Given the description of an element on the screen output the (x, y) to click on. 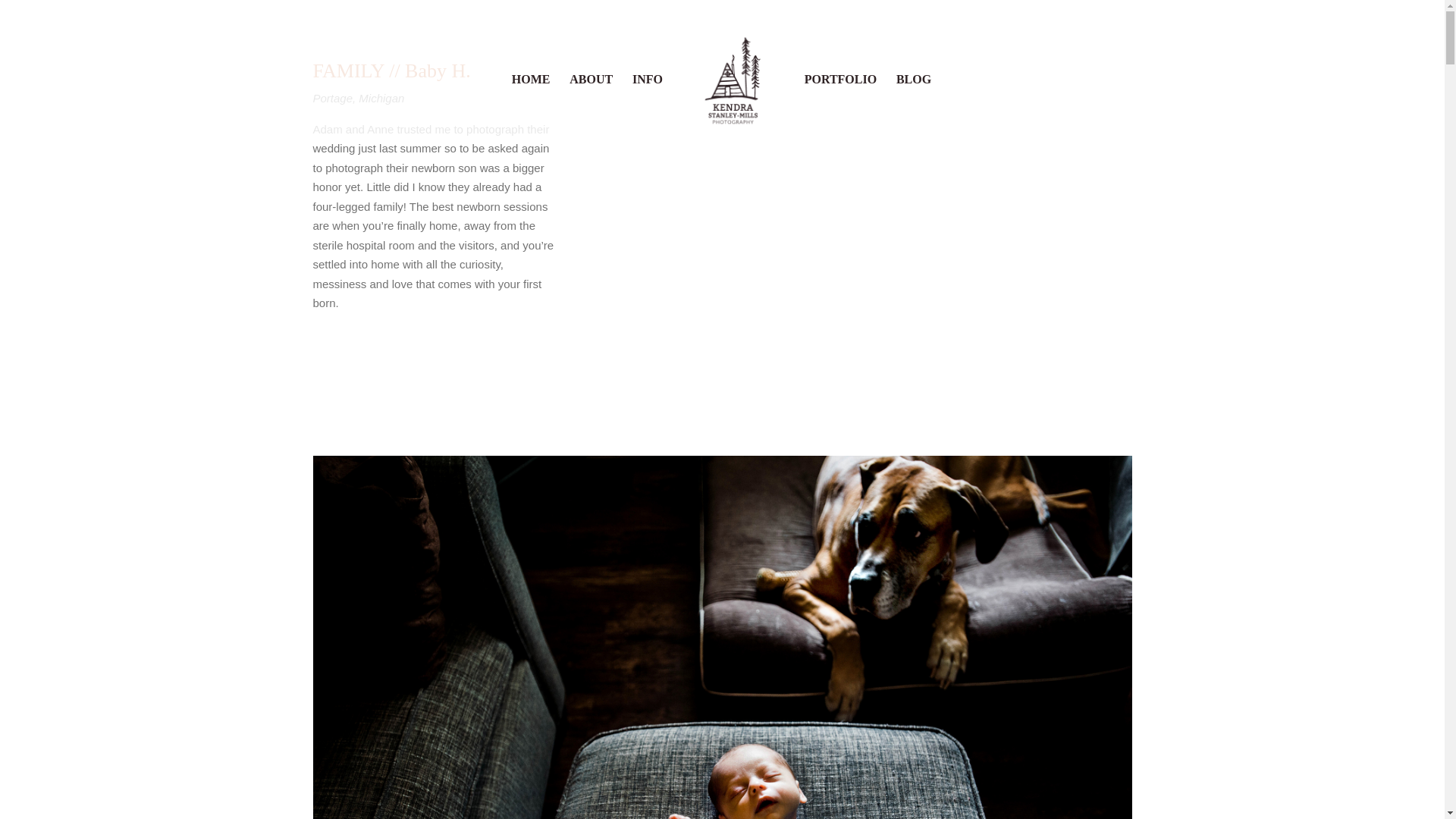
PORTFOLIO (840, 106)
